Given the description of an element on the screen output the (x, y) to click on. 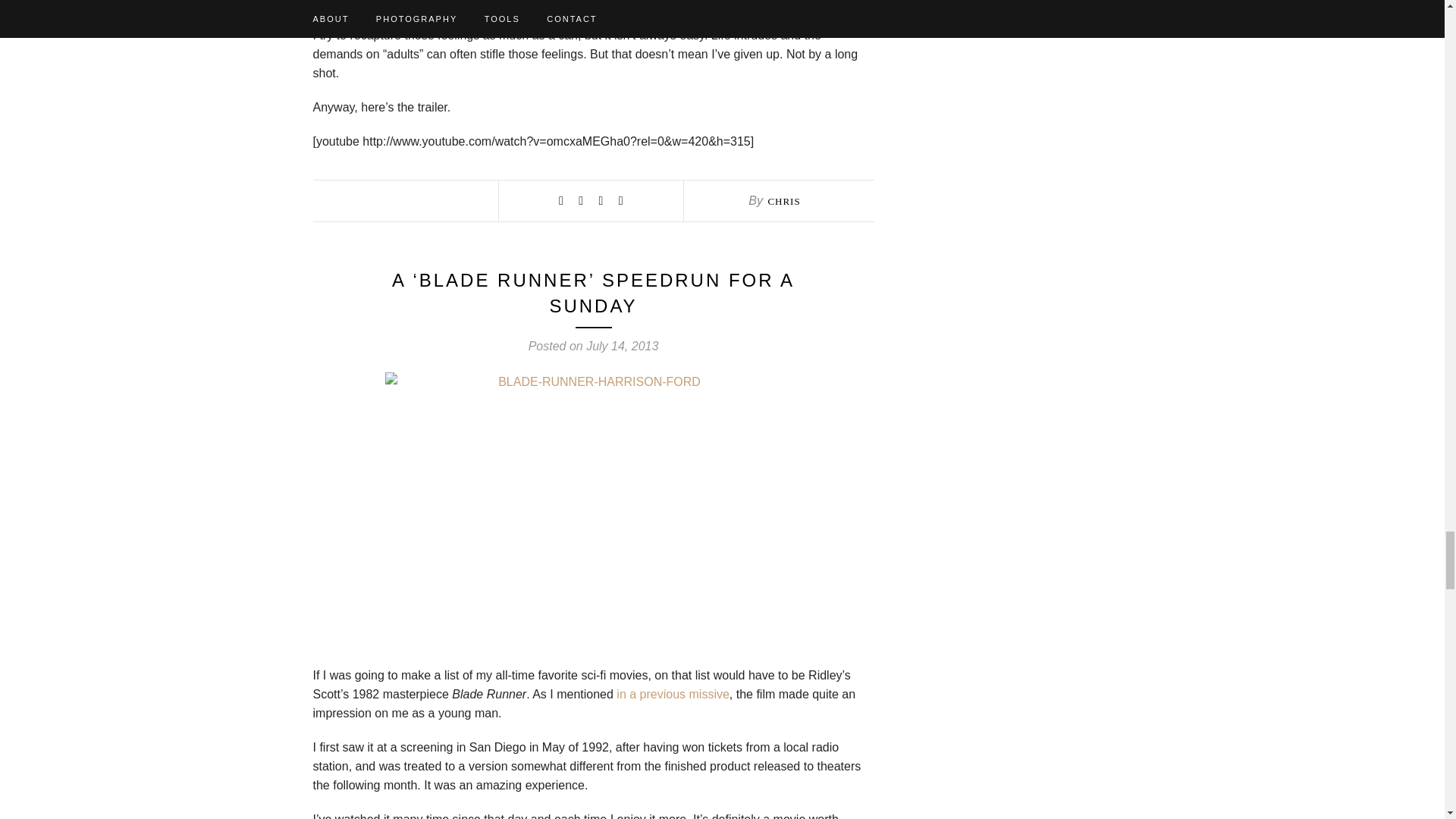
Posts by Chris (783, 201)
